Given the description of an element on the screen output the (x, y) to click on. 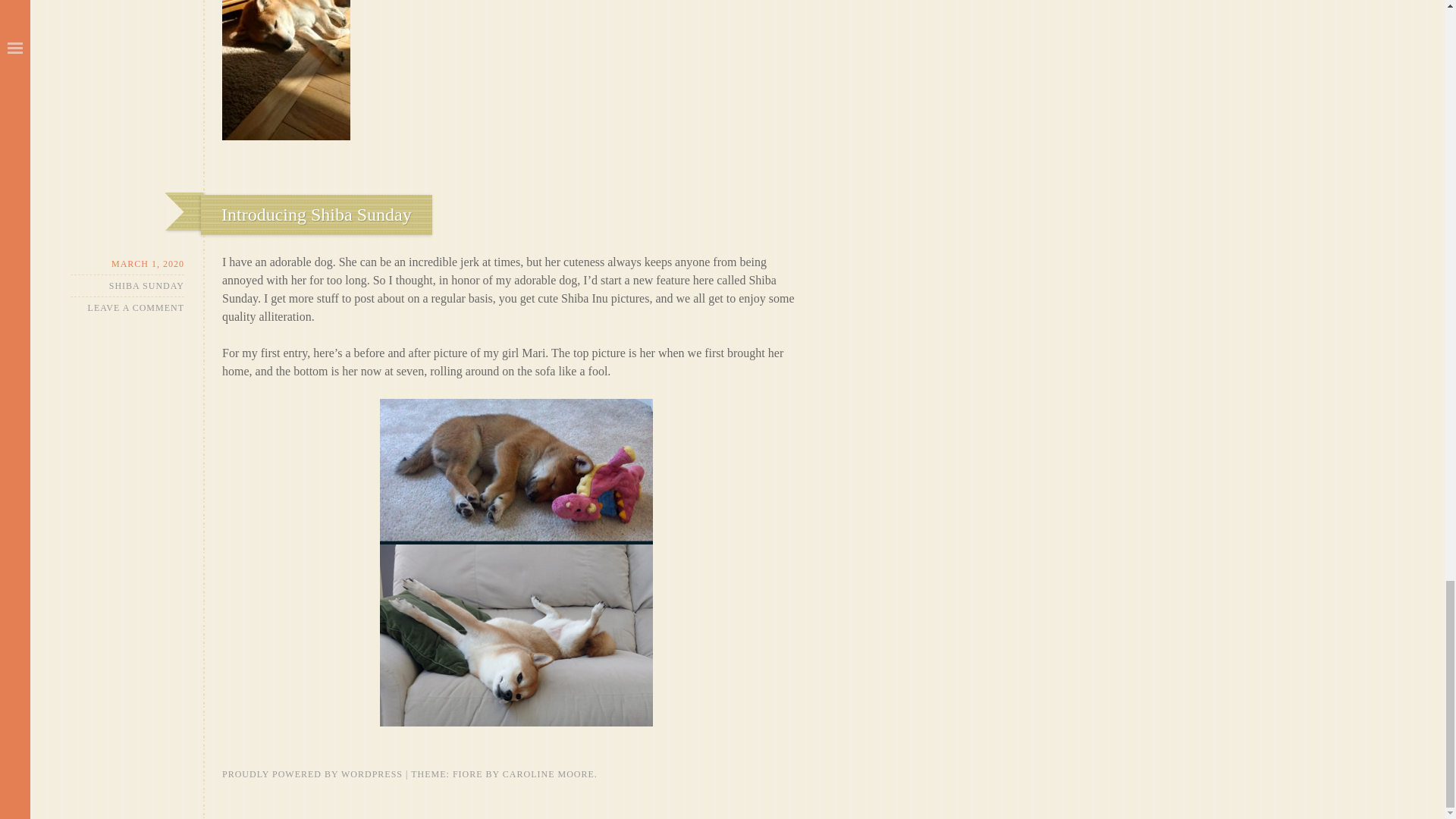
4:14 pm (126, 264)
A Semantic Personal Publishing Platform (312, 774)
